Given the description of an element on the screen output the (x, y) to click on. 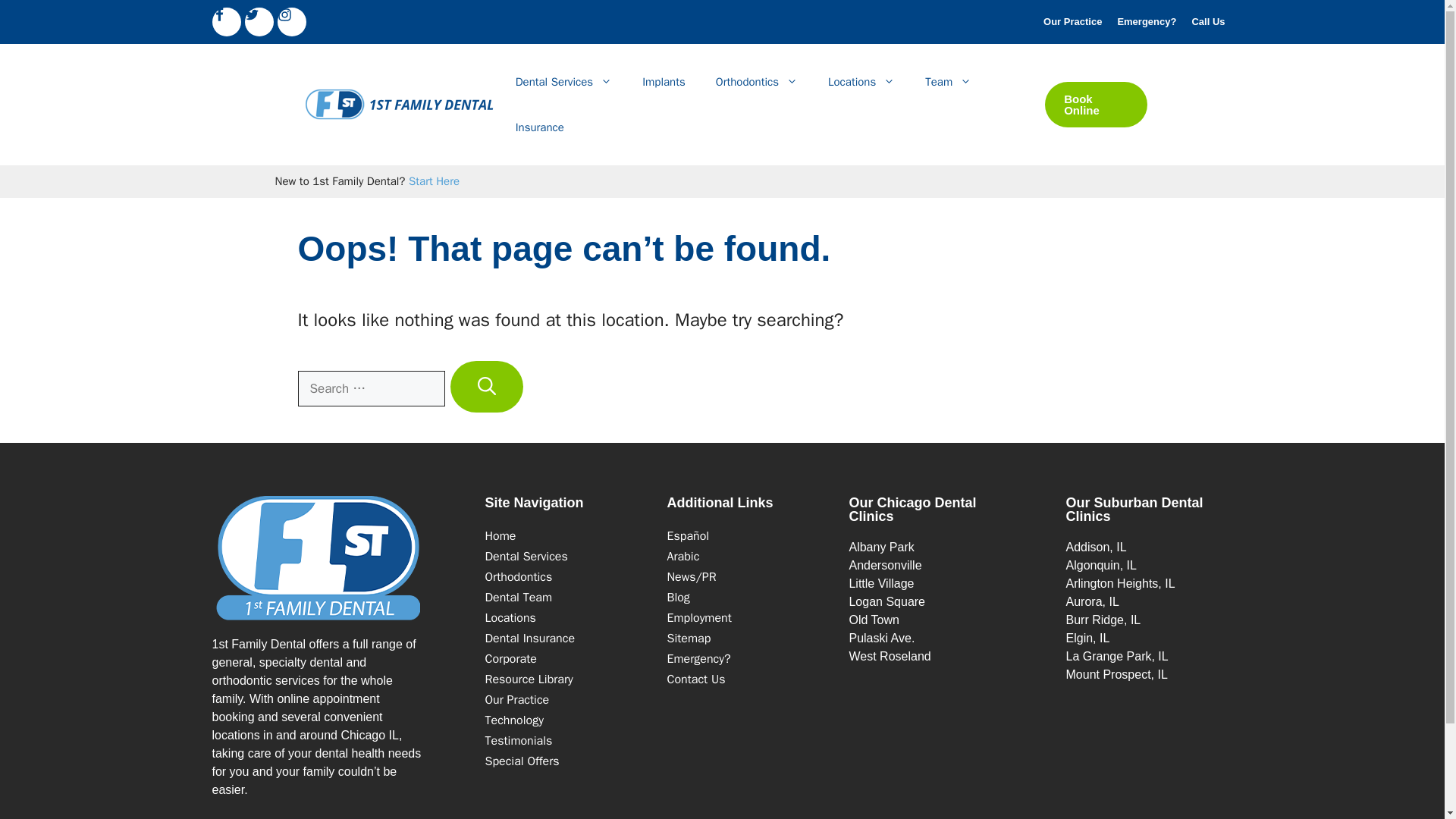
Locations (509, 617)
Our Practice (1072, 21)
Corporate Partnerships (510, 658)
Dental Team (518, 597)
Home (500, 535)
Insurance (529, 638)
Orthodontics (756, 81)
Locations (861, 81)
Special Offers (521, 761)
Call Us (1207, 21)
